Given the description of an element on the screen output the (x, y) to click on. 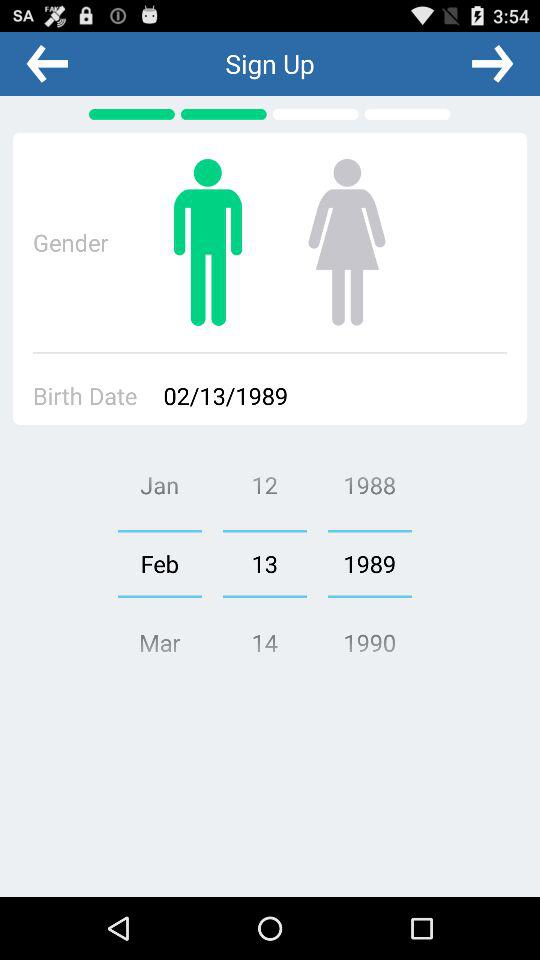
select it if you are female (346, 242)
